Given the description of an element on the screen output the (x, y) to click on. 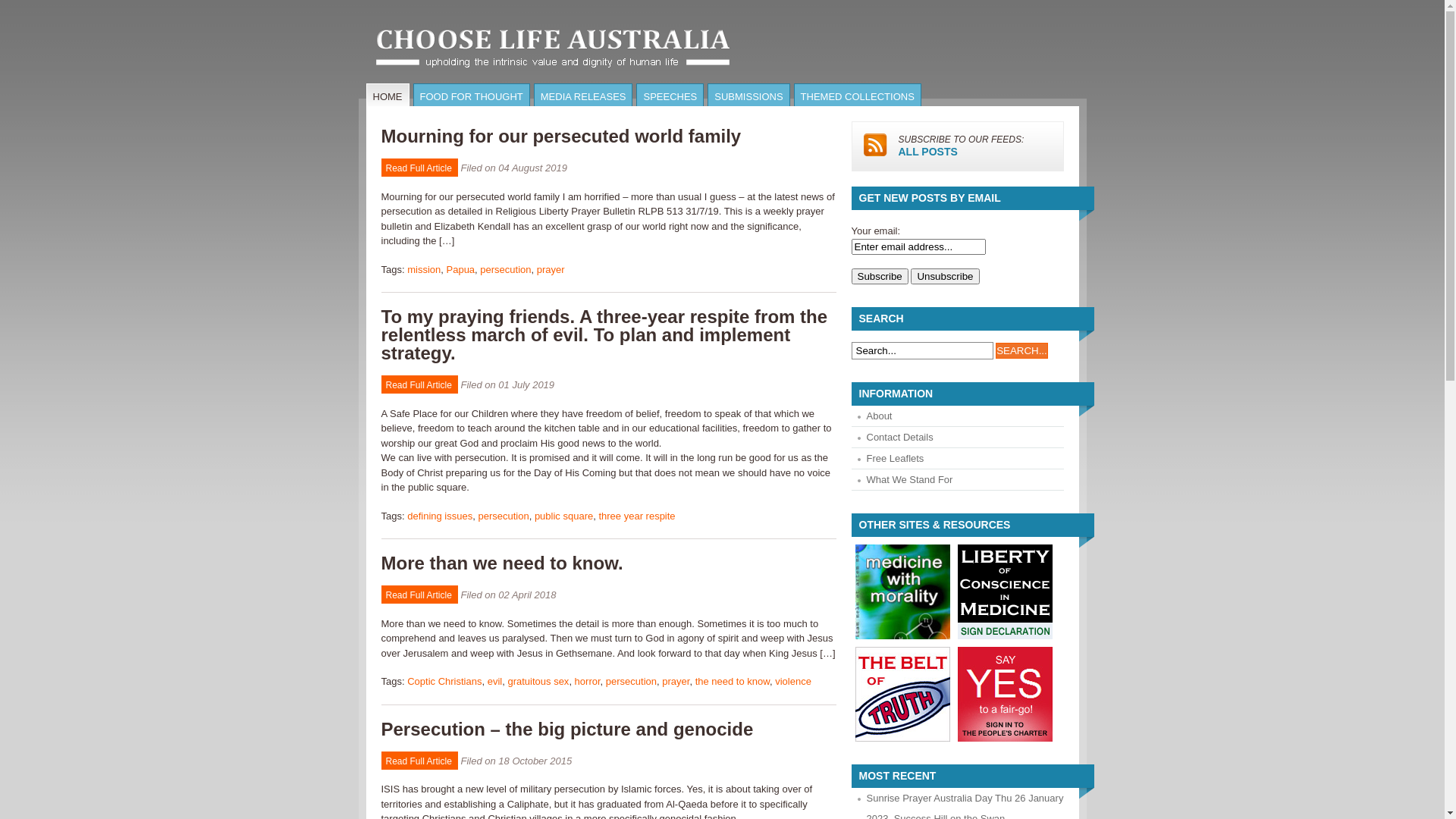
Unsubscribe Element type: text (944, 276)
public square Element type: text (563, 514)
Read Full Article Element type: text (418, 384)
THEMED COLLECTIONS Element type: text (857, 94)
Search... Element type: text (1021, 350)
Read Full Article Element type: text (418, 167)
prayer Element type: text (675, 681)
evil Element type: text (494, 681)
Contact Details Element type: text (956, 436)
SUBMISSIONS Element type: text (748, 94)
three year respite Element type: text (636, 514)
Free Leaflets Element type: text (956, 457)
prayer Element type: text (550, 269)
defining issues Element type: text (439, 514)
persecution Element type: text (505, 269)
More than we need to know. Element type: text (501, 562)
FOOD FOR THOUGHT Element type: text (470, 94)
persecution Element type: text (630, 681)
Papua Element type: text (459, 269)
MEDIA RELEASES Element type: text (583, 94)
Coptic Christians Element type: text (444, 681)
About Element type: text (956, 415)
HOME Element type: text (386, 94)
Read Full Article Element type: text (418, 594)
What We Stand For Element type: text (956, 478)
Choose Life Australia Element type: hover (547, 79)
horror Element type: text (587, 681)
Mourning for our persecuted world family Element type: text (560, 135)
the need to know Element type: text (732, 681)
Read Full Article Element type: text (418, 759)
Subscribe Element type: text (878, 276)
SPEECHES Element type: text (669, 94)
SUBSCRIBE TO OUR FEEDS:
ALL POSTS Element type: text (957, 146)
violence Element type: text (793, 681)
mission Element type: text (423, 269)
gratuitous sex Element type: text (537, 681)
persecution Element type: text (502, 514)
